Given the description of an element on the screen output the (x, y) to click on. 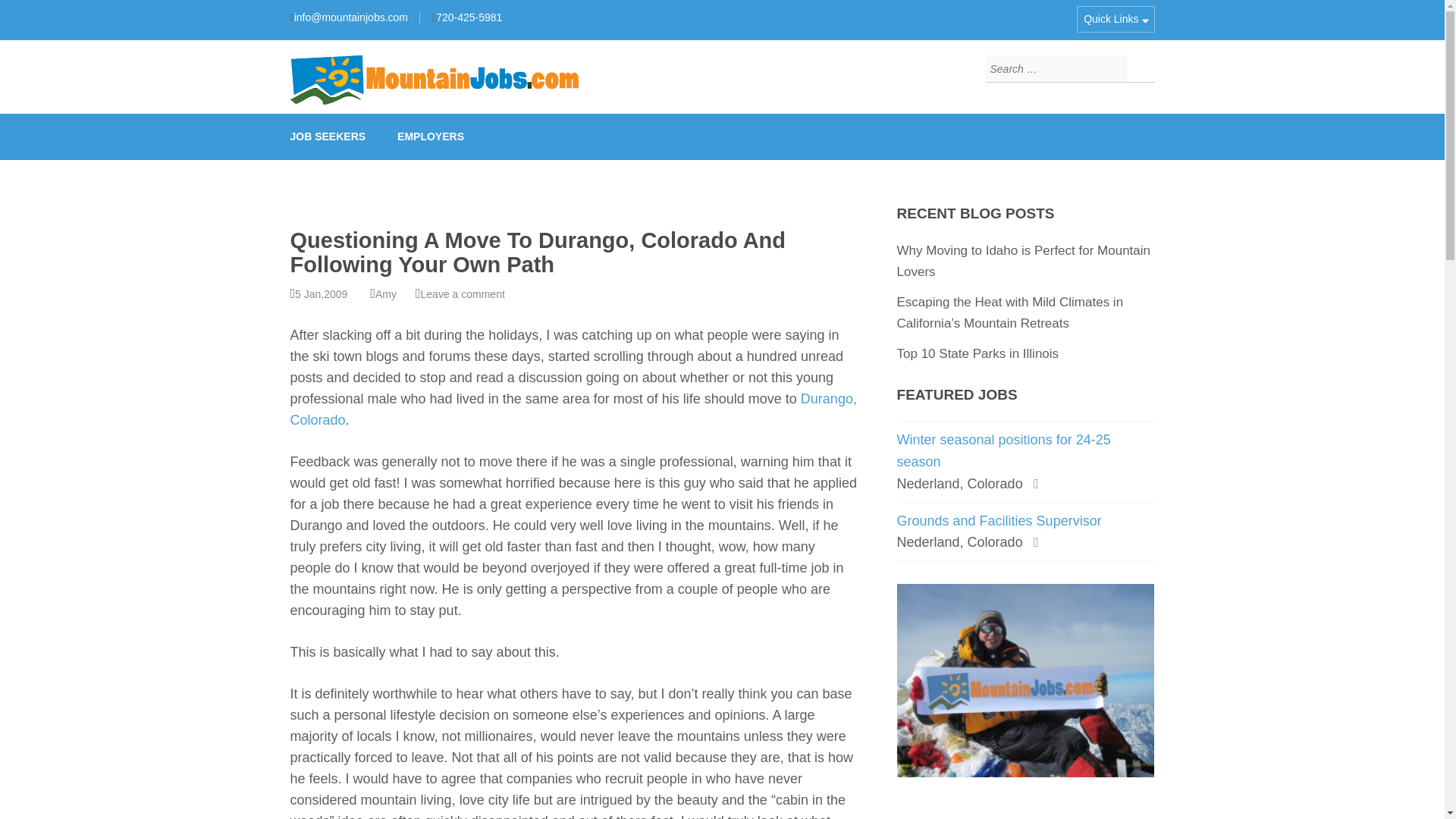
720-425-5981 (468, 17)
Quick Links (1115, 18)
